Given the description of an element on the screen output the (x, y) to click on. 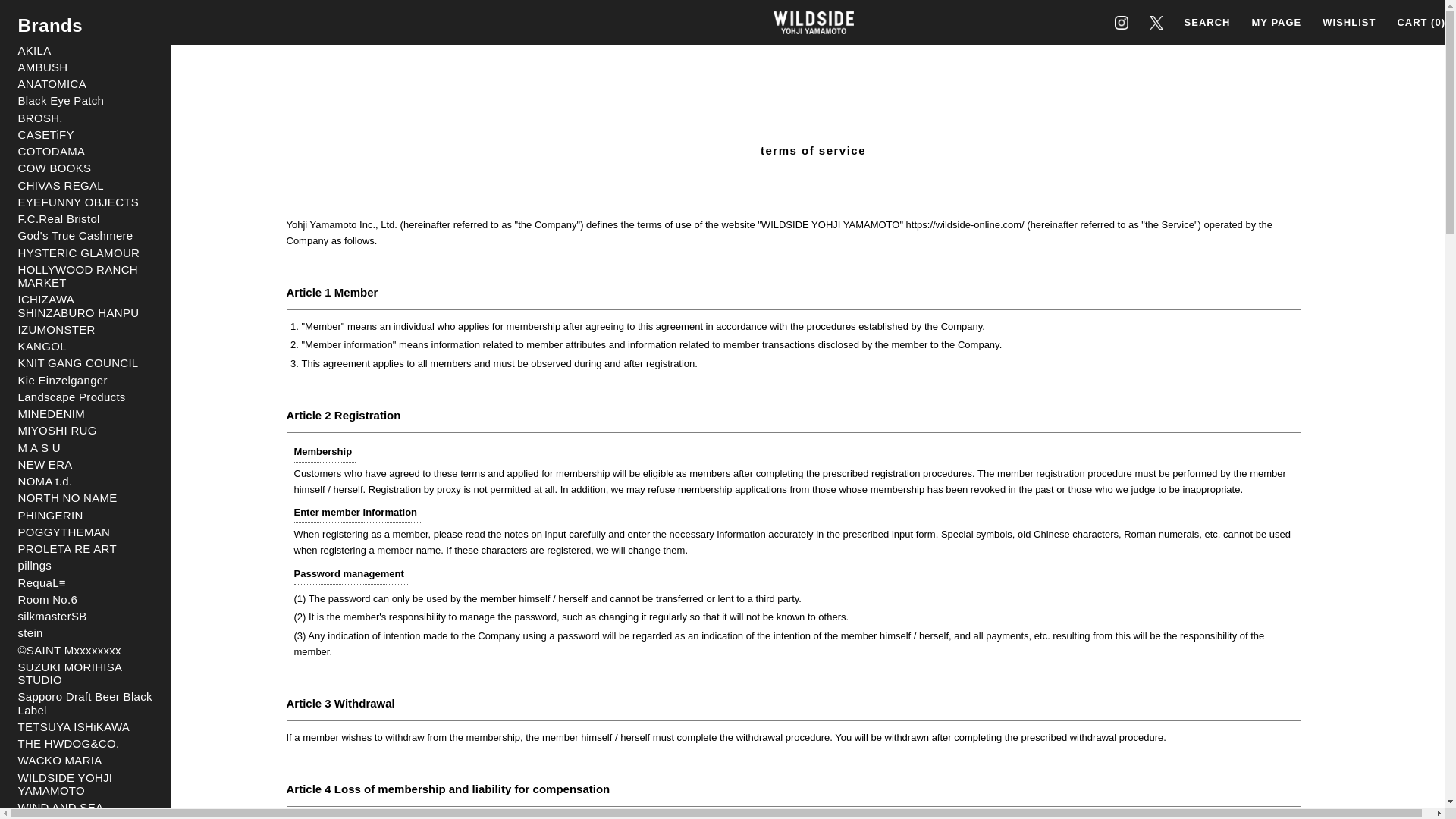
IZUMONSTER (84, 328)
God's True Cashmere (84, 235)
NEW ERA (84, 463)
Kie Einzelganger (84, 379)
CASETiFY (84, 133)
HYSTERIC GLAMOUR (84, 252)
NOMA t.d. (84, 481)
KNIT GANG COUNCIL (84, 362)
AMBUSH (84, 66)
silkmasterSB (84, 615)
Room No.6 (84, 599)
Black Eye Patch (84, 100)
Sapporo Draft Beer Black Label (84, 703)
SUZUKI MORIHISA STUDIO (84, 673)
ICHIZAWA SHINZABURO HANPU (84, 305)
